Given the description of an element on the screen output the (x, y) to click on. 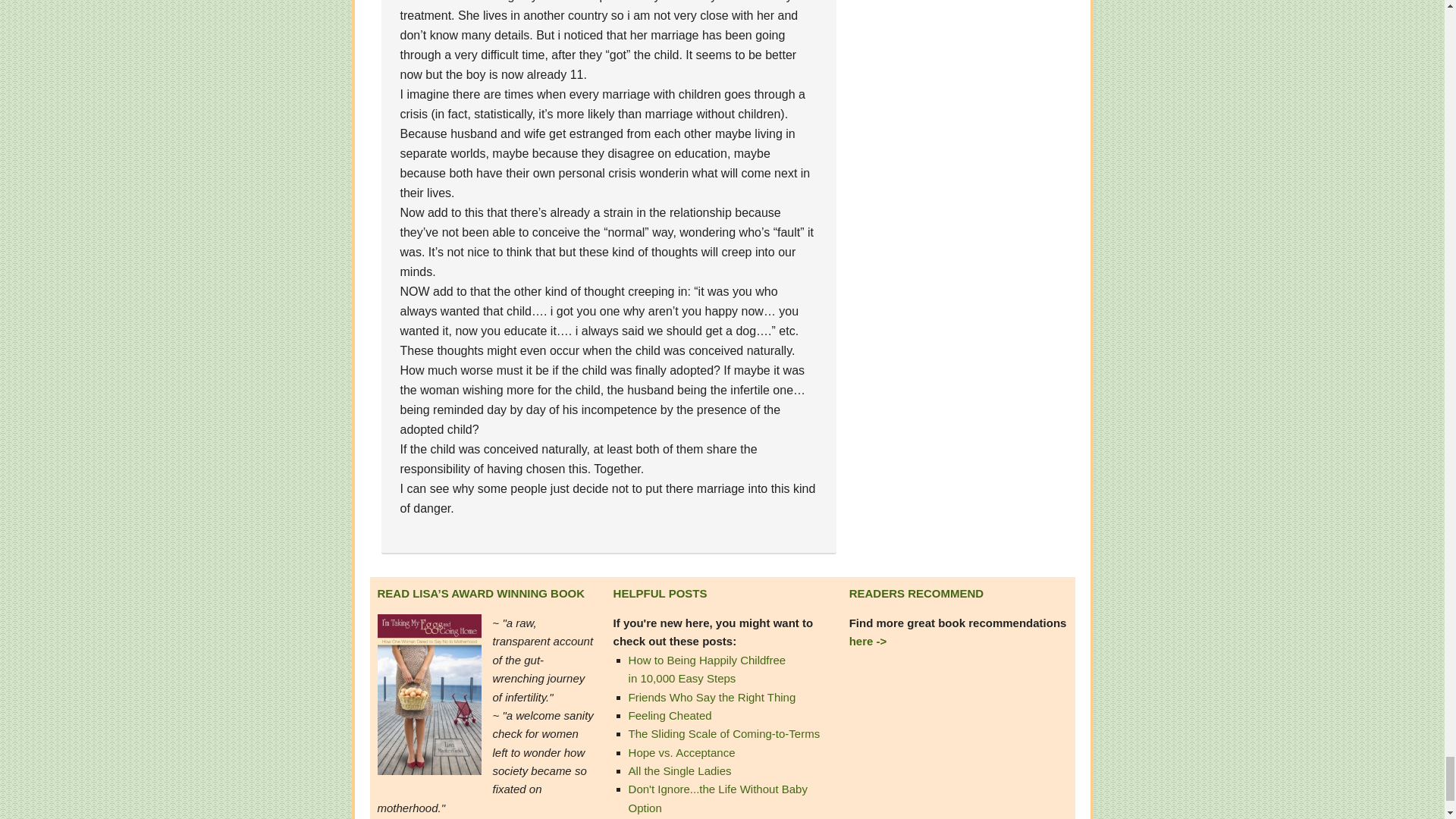
The Sliding Scale of Coming-to-Terms (724, 733)
Hope vs. Acceptance (681, 752)
Friends Who Said the Right Thing (712, 696)
How to be Happily Childfree in 10,000 Easy Steps (707, 668)
